Given the description of an element on the screen output the (x, y) to click on. 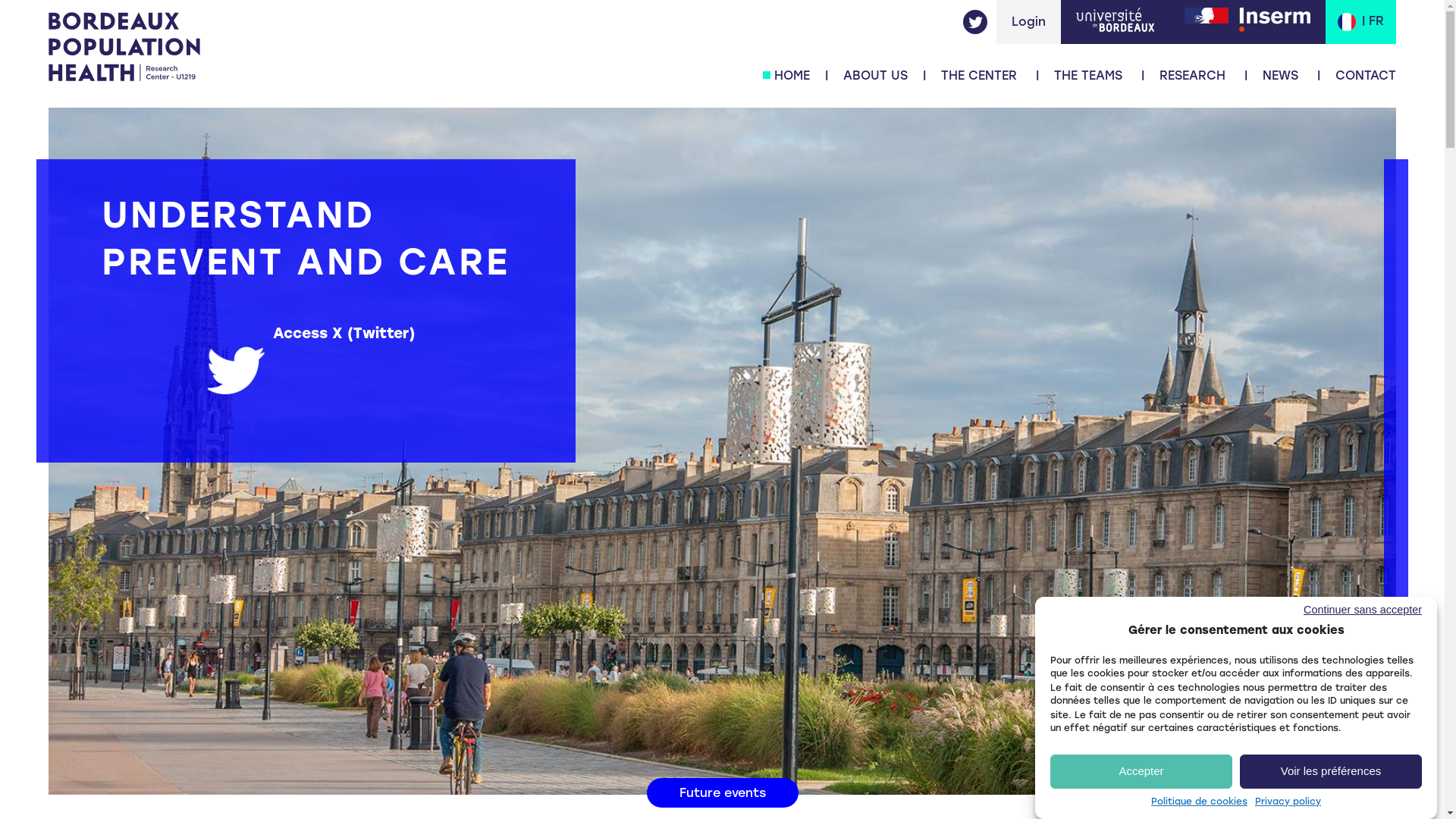
Login Element type: text (1028, 21)
RESEARCH Element type: text (1192, 75)
Access X (Twitter) Element type: text (351, 332)
ABOUT US Element type: text (875, 75)
Politique de cookies Element type: text (1199, 801)
Future events Element type: text (721, 792)
HOME Element type: text (792, 75)
THE TEAMS Element type: text (1087, 75)
Accepter Element type: text (1141, 770)
Privacy policy Element type: text (1288, 801)
Continuer sans accepter Element type: text (1220, 610)
THE CENTER Element type: text (978, 75)
CONTACT Element type: text (1365, 75)
| FR Element type: text (1360, 21)
NEWS Element type: text (1280, 75)
